Given the description of an element on the screen output the (x, y) to click on. 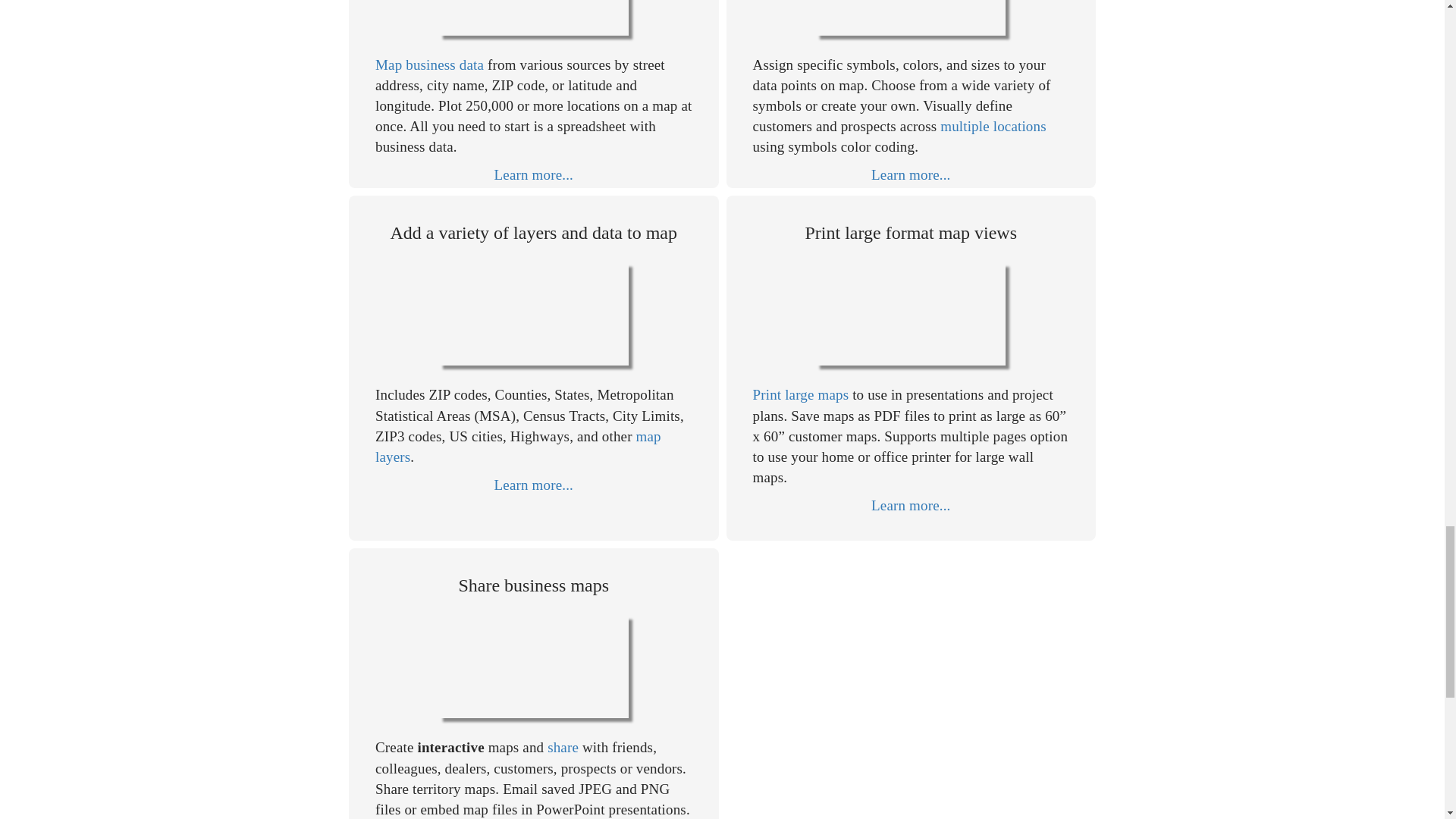
share (562, 747)
Map business data (429, 64)
multiple locations (993, 125)
map layers (518, 446)
Learn more... (534, 174)
Print large maps (800, 394)
Learn more... (534, 484)
Learn more... (910, 505)
Learn more... (910, 174)
